Given the description of an element on the screen output the (x, y) to click on. 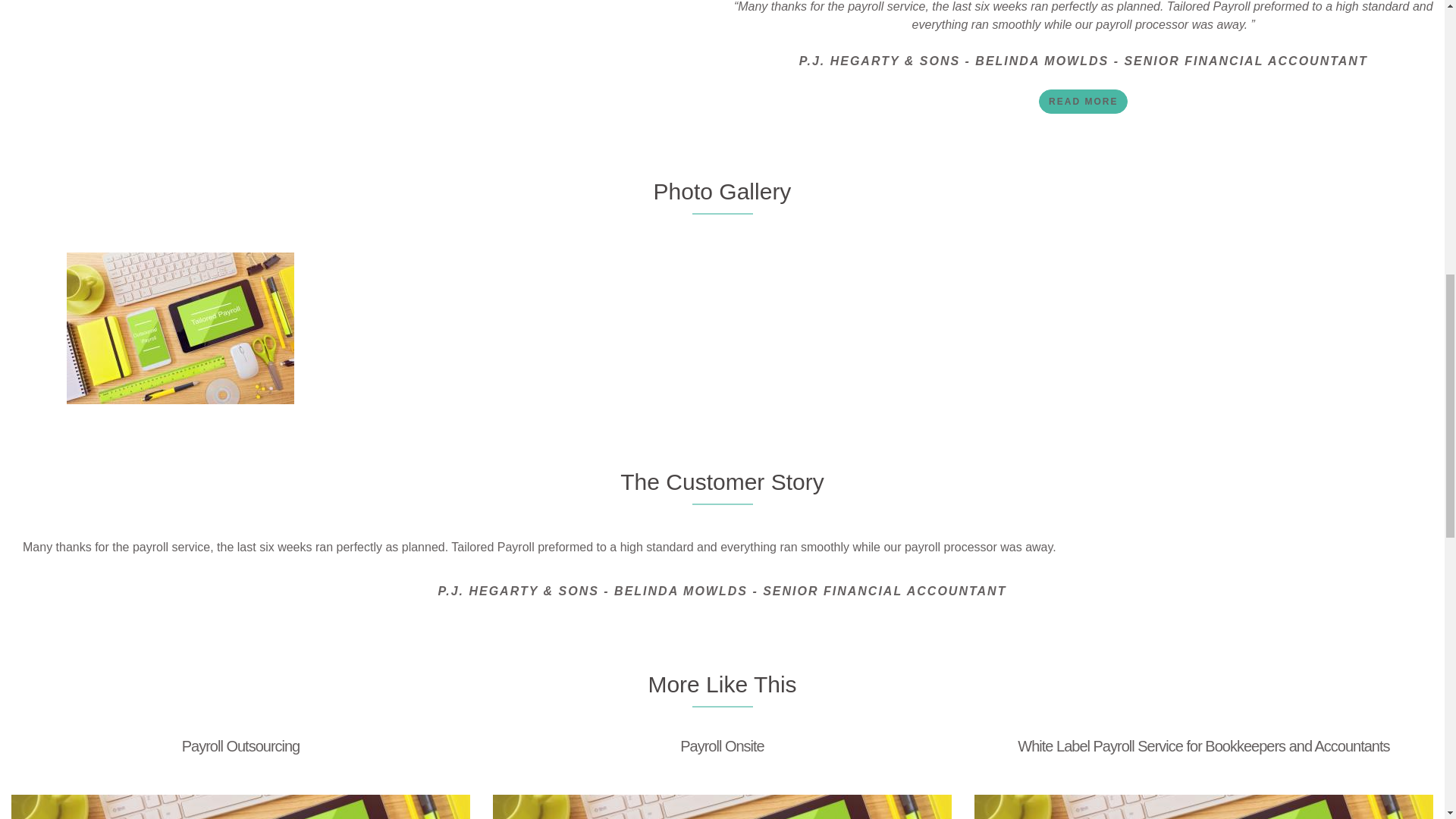
Payroll Onsite (721, 745)
White Label Payroll Service for Bookkeepers and Accountants (1203, 745)
READ MORE (1082, 101)
READ MORE (1082, 101)
Payroll Outsourcing (240, 745)
